Given the description of an element on the screen output the (x, y) to click on. 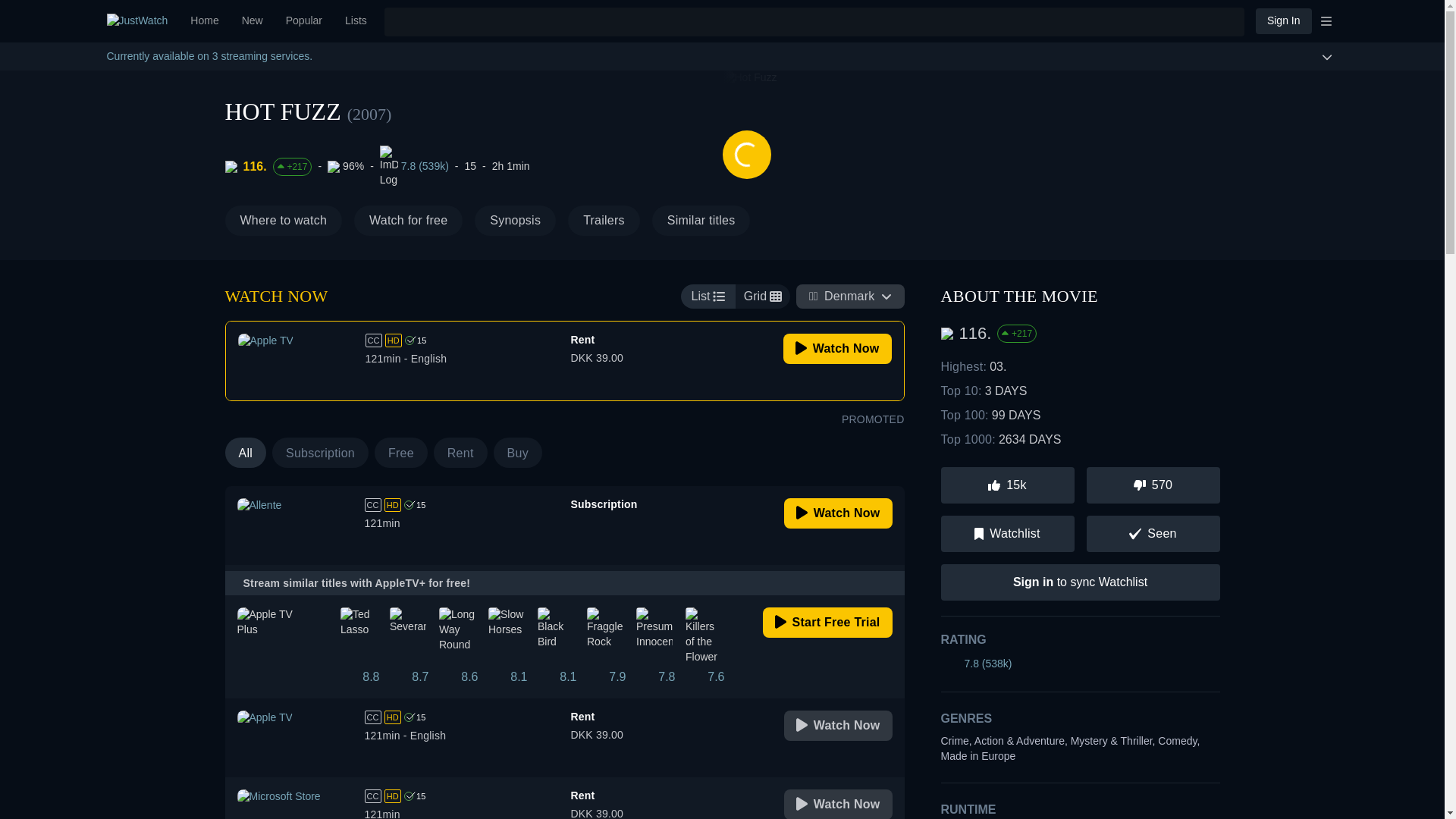
Watch Now (838, 804)
Popular (304, 21)
Similar titles (701, 220)
Watch Now (837, 348)
New (564, 525)
Subscription (252, 21)
Free (320, 452)
Start Free Trial (401, 452)
Sign In (827, 622)
Synopsis (564, 360)
Watch for free (1283, 20)
All (385, 452)
